Given the description of an element on the screen output the (x, y) to click on. 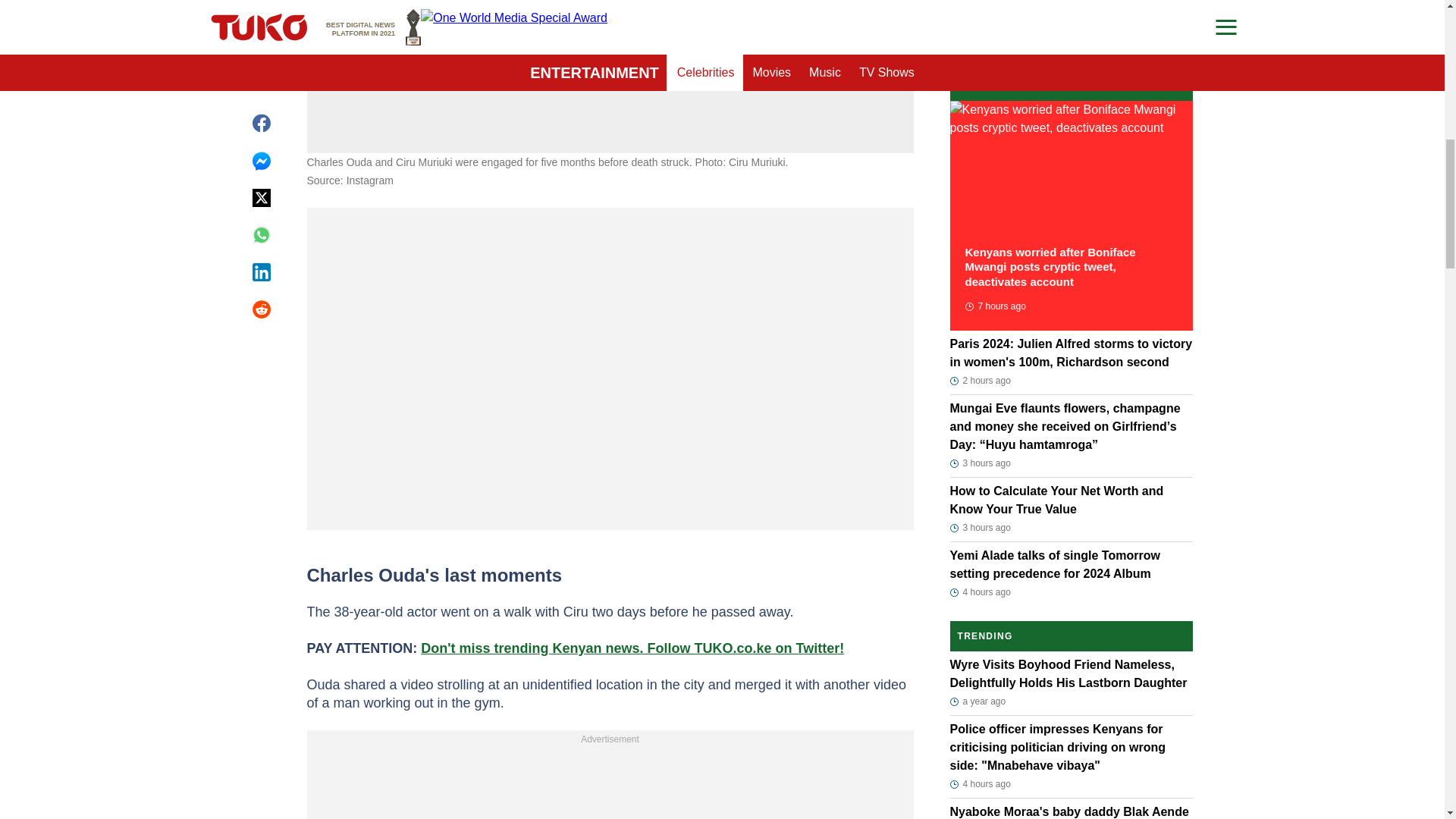
Charles Ouda and Ciru Muriuki. (609, 18)
